Given the description of an element on the screen output the (x, y) to click on. 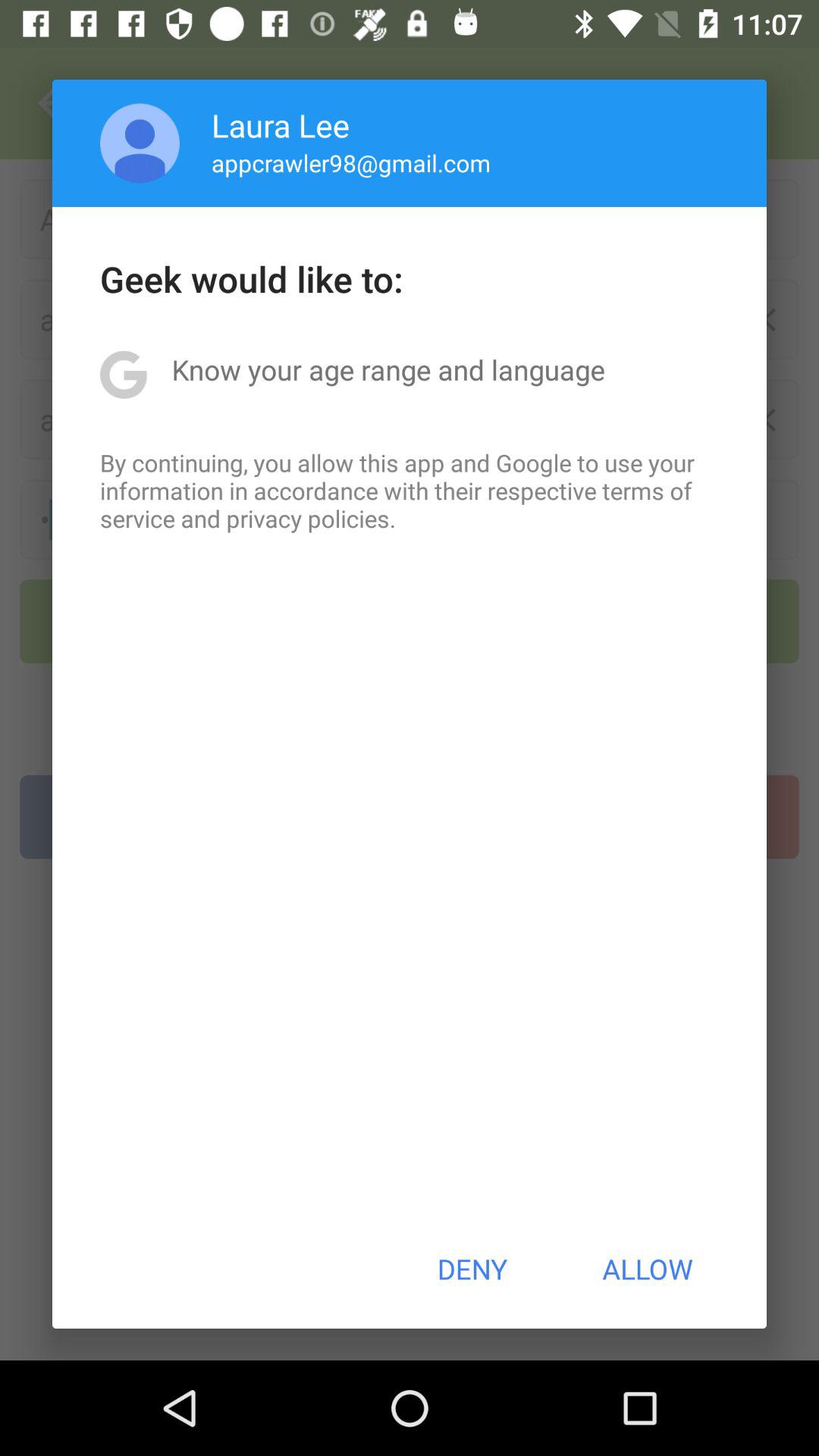
select the item above the geek would like app (350, 162)
